Given the description of an element on the screen output the (x, y) to click on. 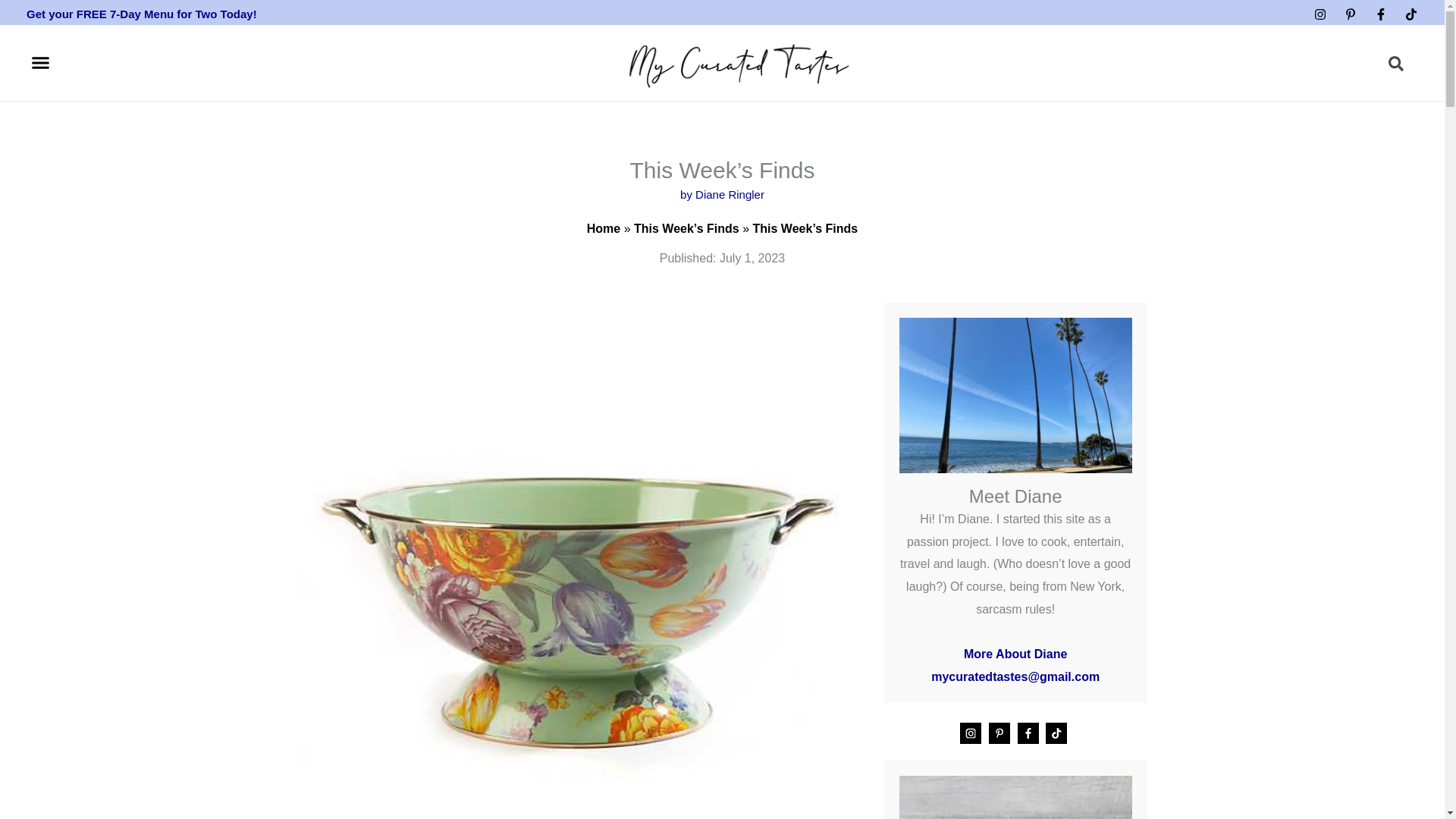
Get your FREE 7-Day Menu for Two Today! (141, 13)
Home (603, 228)
Instagram (1320, 14)
Pinterest-p (1349, 14)
Facebook-f (1380, 14)
Tiktok (1410, 14)
